Given the description of an element on the screen output the (x, y) to click on. 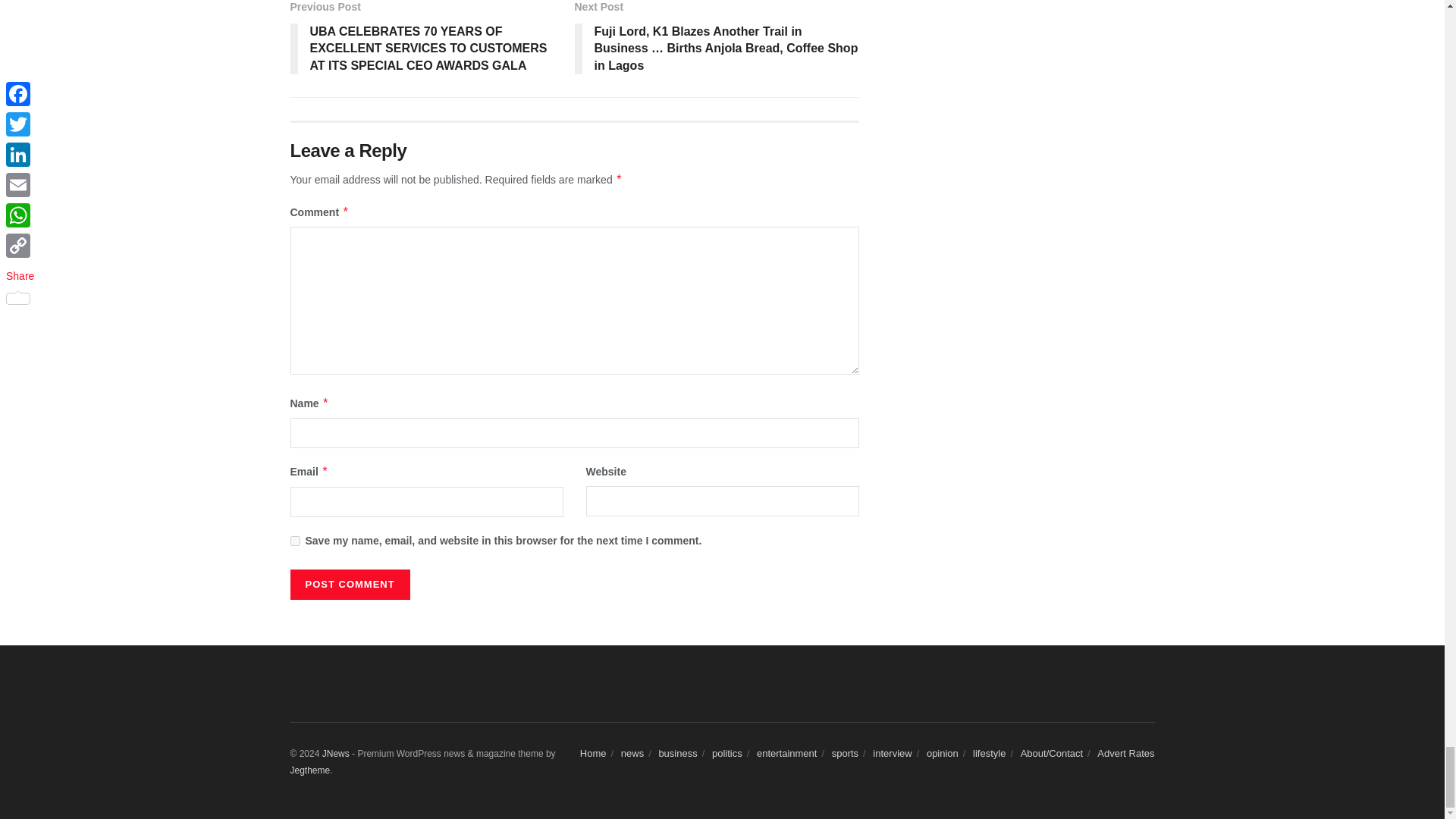
Post Comment (349, 584)
yes (294, 540)
Jegtheme (309, 769)
